Given the description of an element on the screen output the (x, y) to click on. 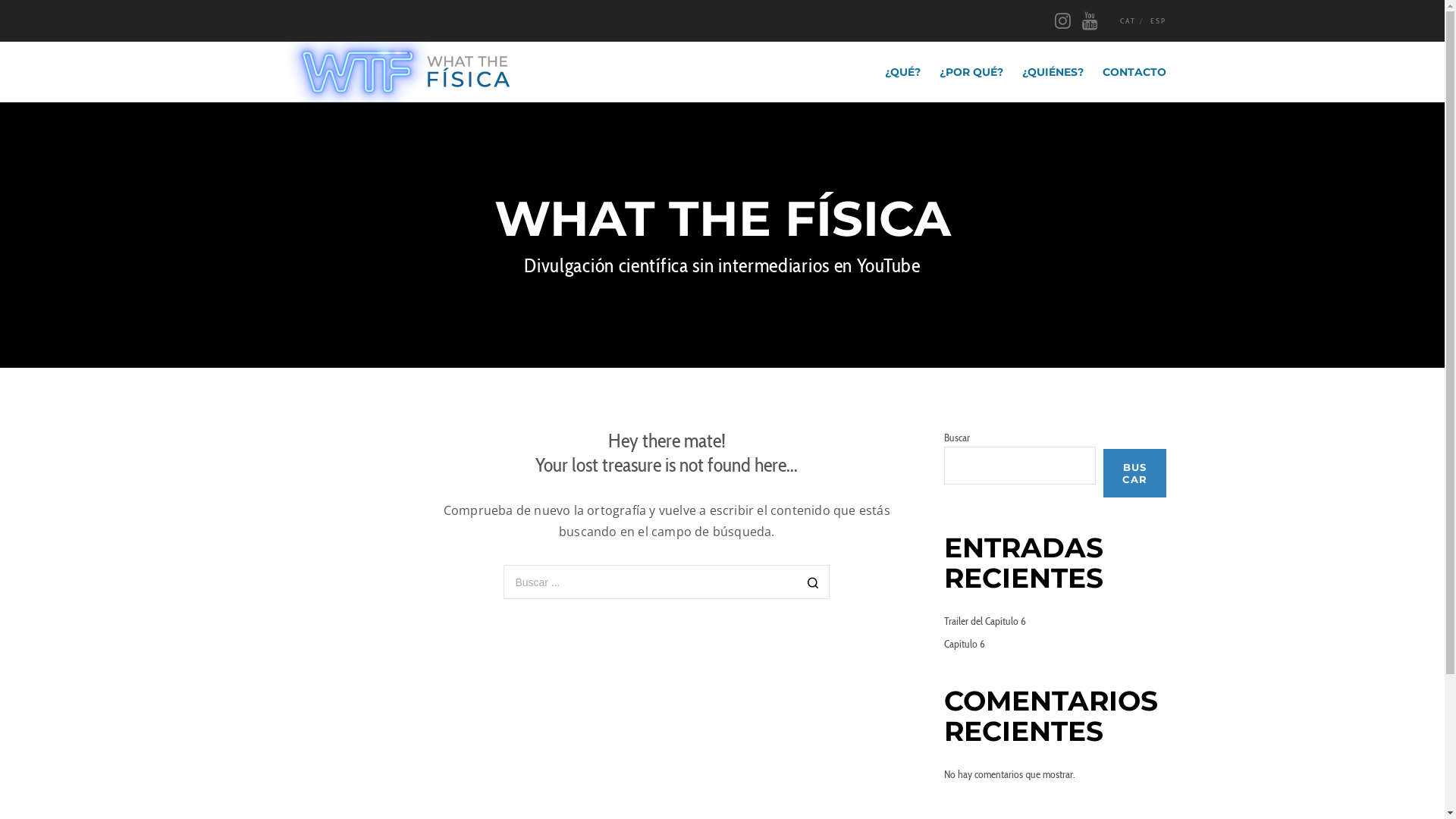
ESP Element type: text (1157, 20)
BUSCAR Element type: text (1134, 472)
CONTACTO Element type: text (1123, 71)
CAT Element type: text (1127, 20)
